Given the description of an element on the screen output the (x, y) to click on. 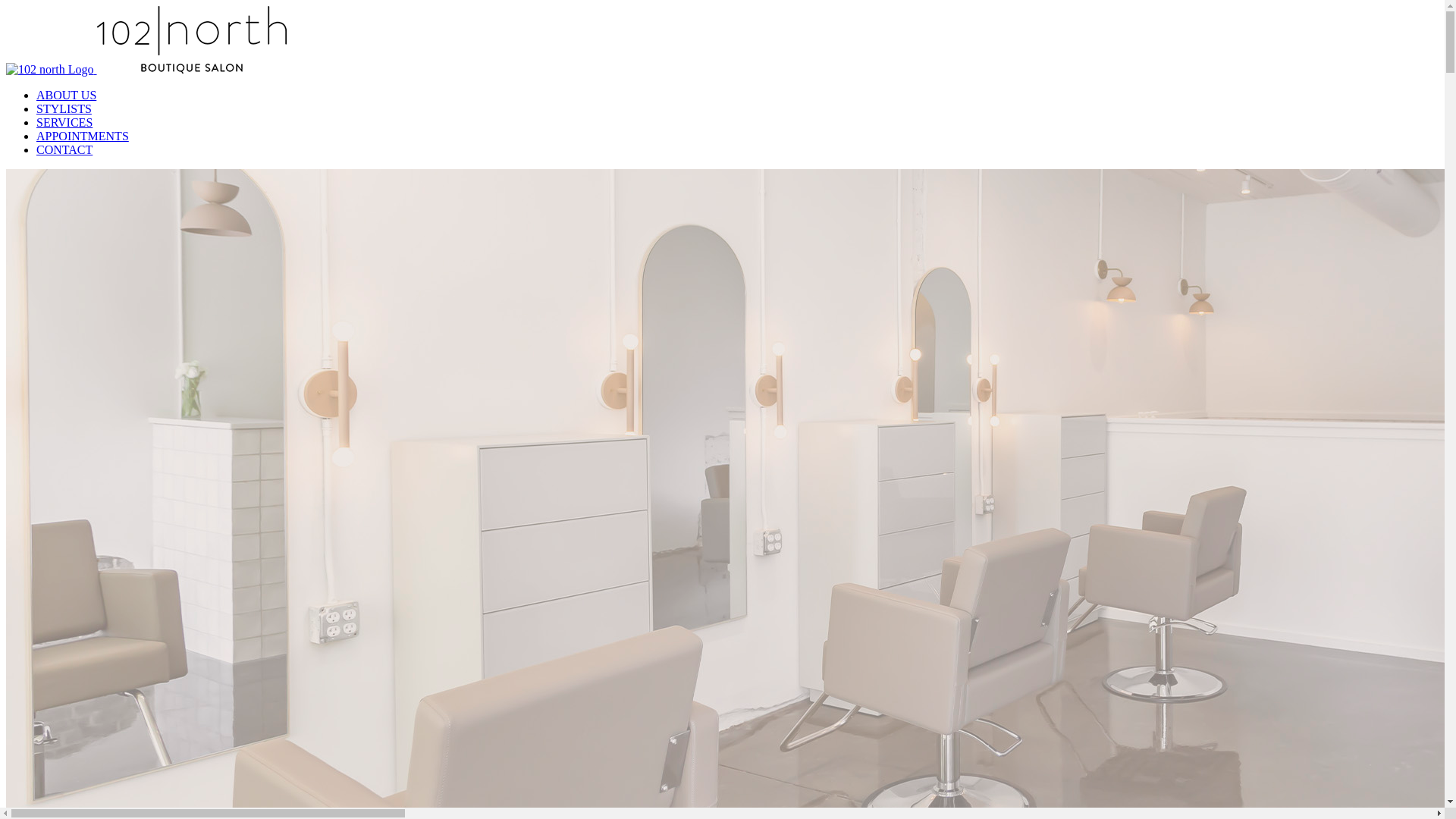
CONTACT Element type: text (64, 149)
APPOINTMENTS Element type: text (82, 135)
SERVICES Element type: text (64, 122)
ABOUT US Element type: text (66, 94)
Skip to content Element type: text (5, 5)
STYLISTS Element type: text (63, 108)
